Given the description of an element on the screen output the (x, y) to click on. 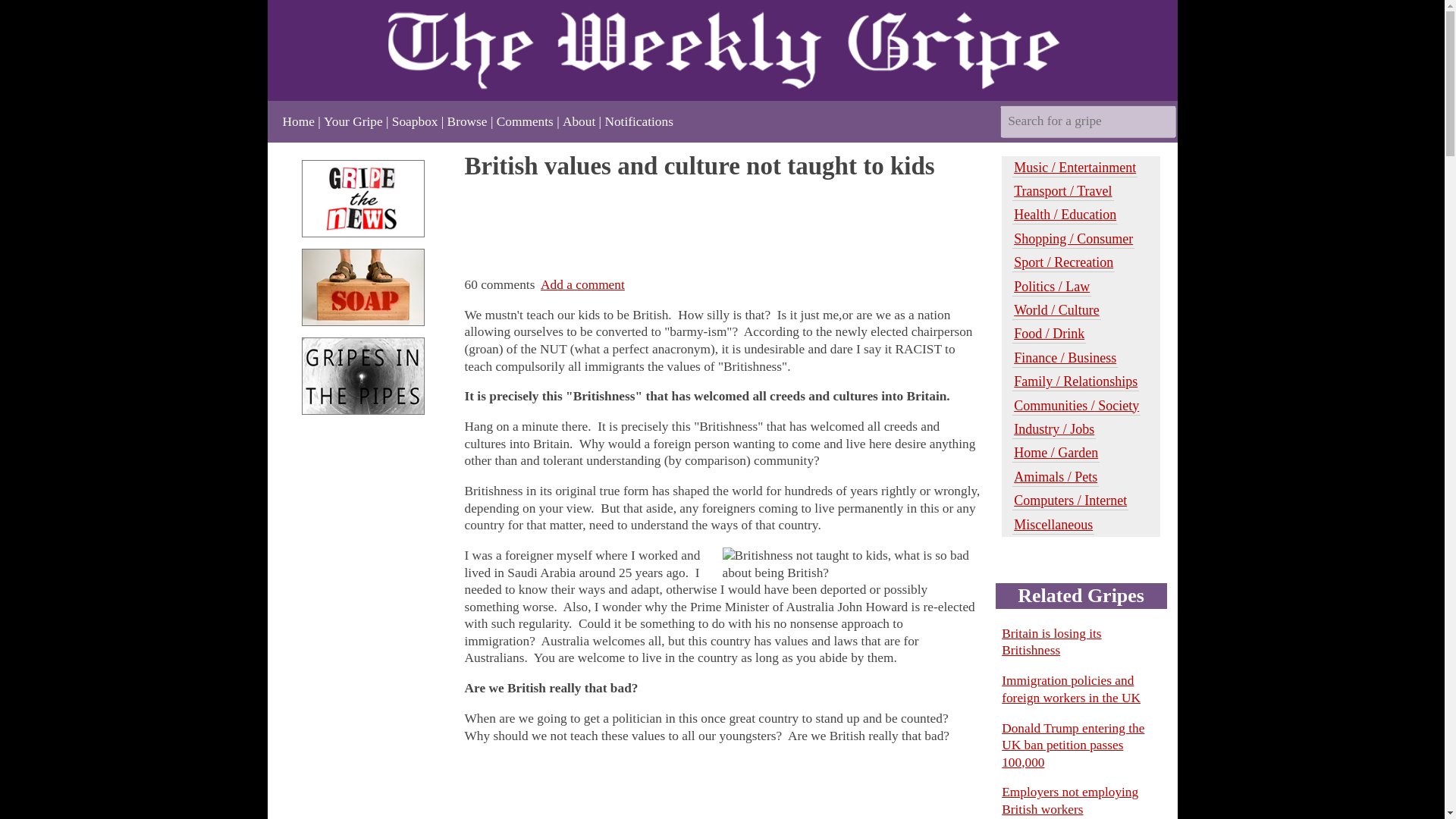
Miscellaneous gripes (1052, 524)
Sport and Recreation (1063, 262)
Finance and Business (1064, 357)
Shopping and Consumer (1072, 239)
Computers and Internet (1069, 500)
Animals and Pets (1055, 476)
Notifications (638, 120)
About (578, 120)
The Weekly Gripe (721, 50)
Browse (466, 120)
Comments (524, 120)
World and Culture (1055, 310)
Home and Garden (1055, 452)
Health and Education (1064, 214)
Your Gripe (352, 120)
